Given the description of an element on the screen output the (x, y) to click on. 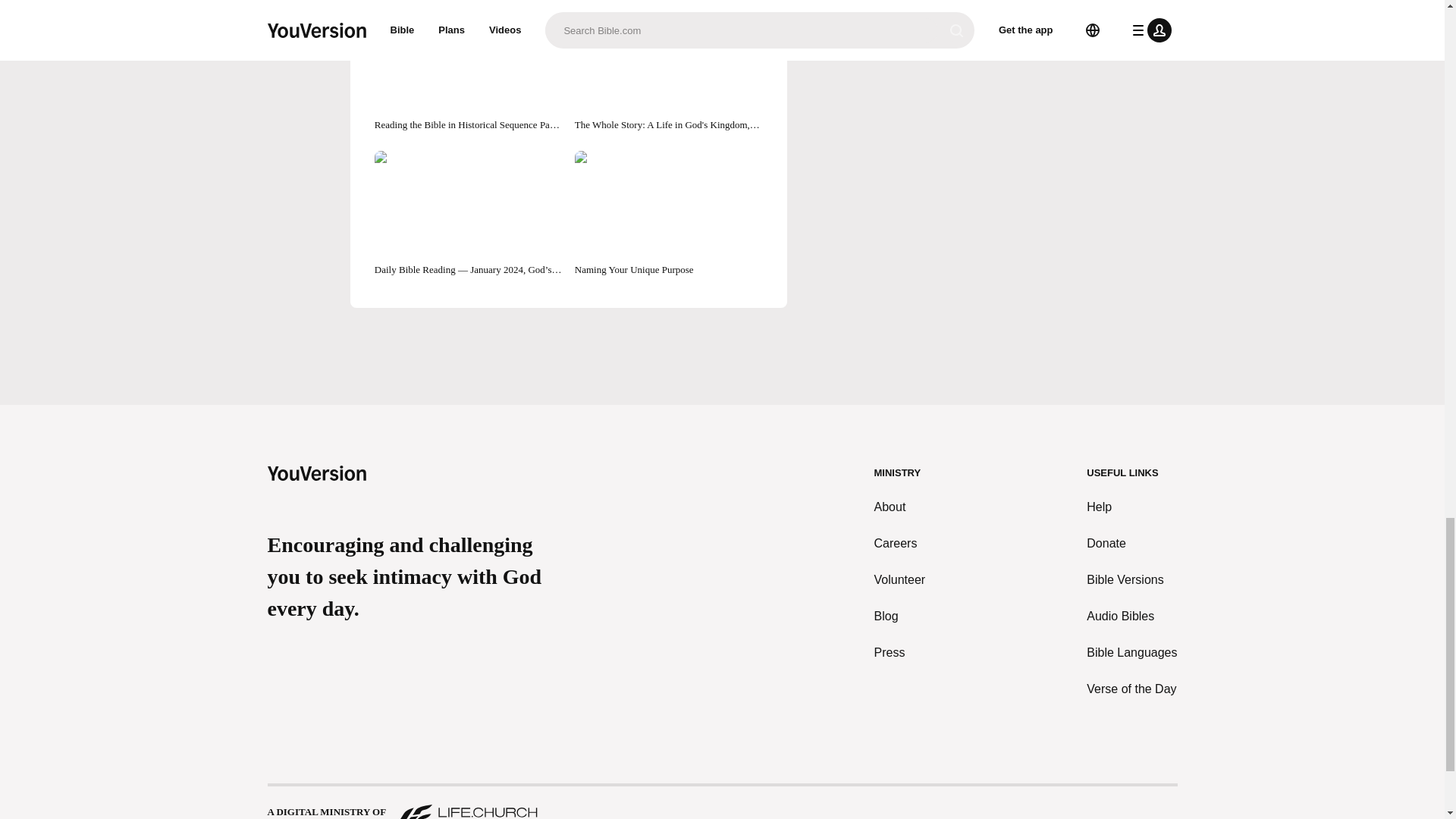
Reading the Bible in Historical Sequence Part 10 (468, 68)
Careers (900, 543)
Volunteer (900, 579)
The Whole Story: A Life in God's Kingdom, Part One (668, 68)
Naming Your Unique Purpose (668, 213)
Blog (900, 616)
About (900, 506)
